Given the description of an element on the screen output the (x, y) to click on. 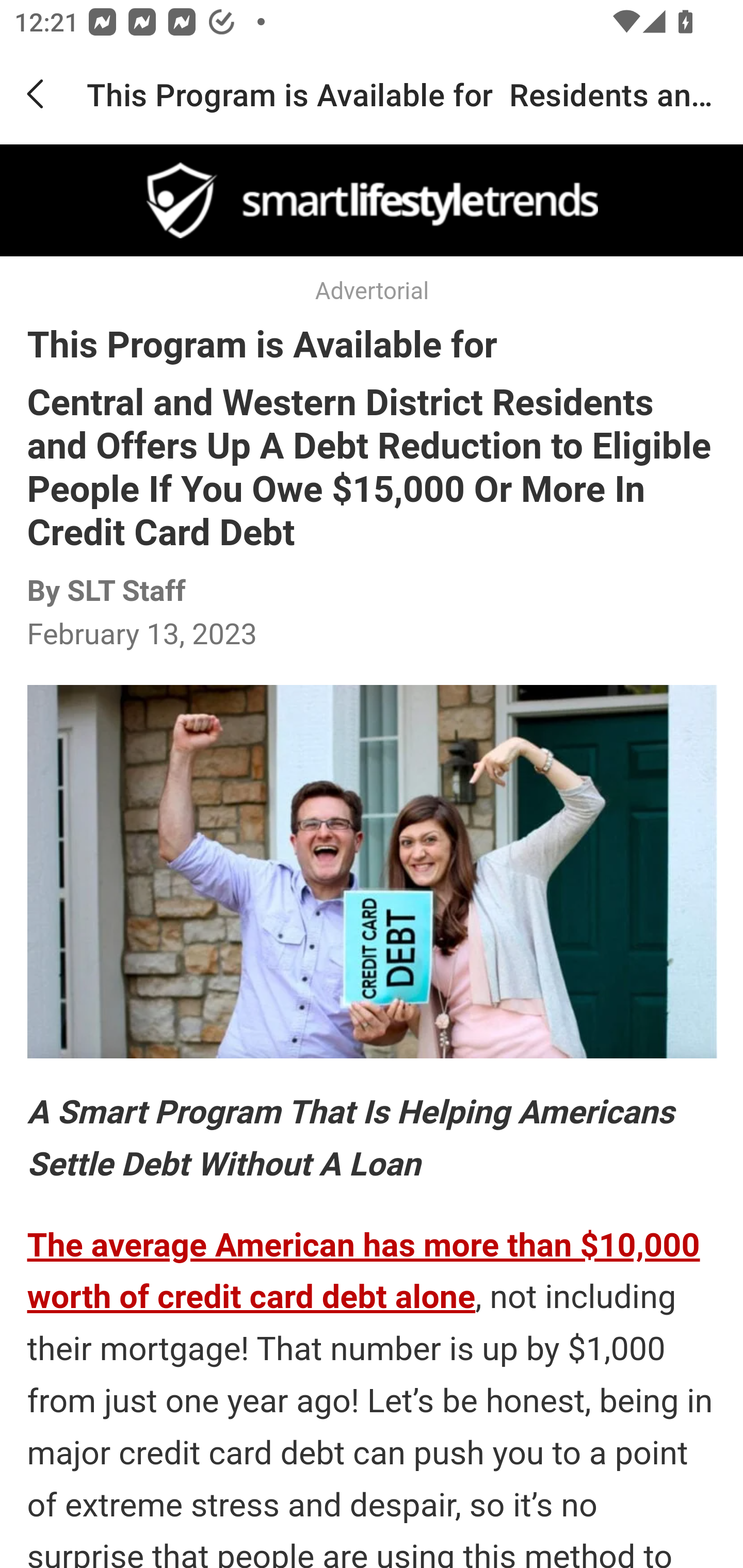
smartlifestyletrends (371, 201)
Featured Image (371, 871)
